Given the description of an element on the screen output the (x, y) to click on. 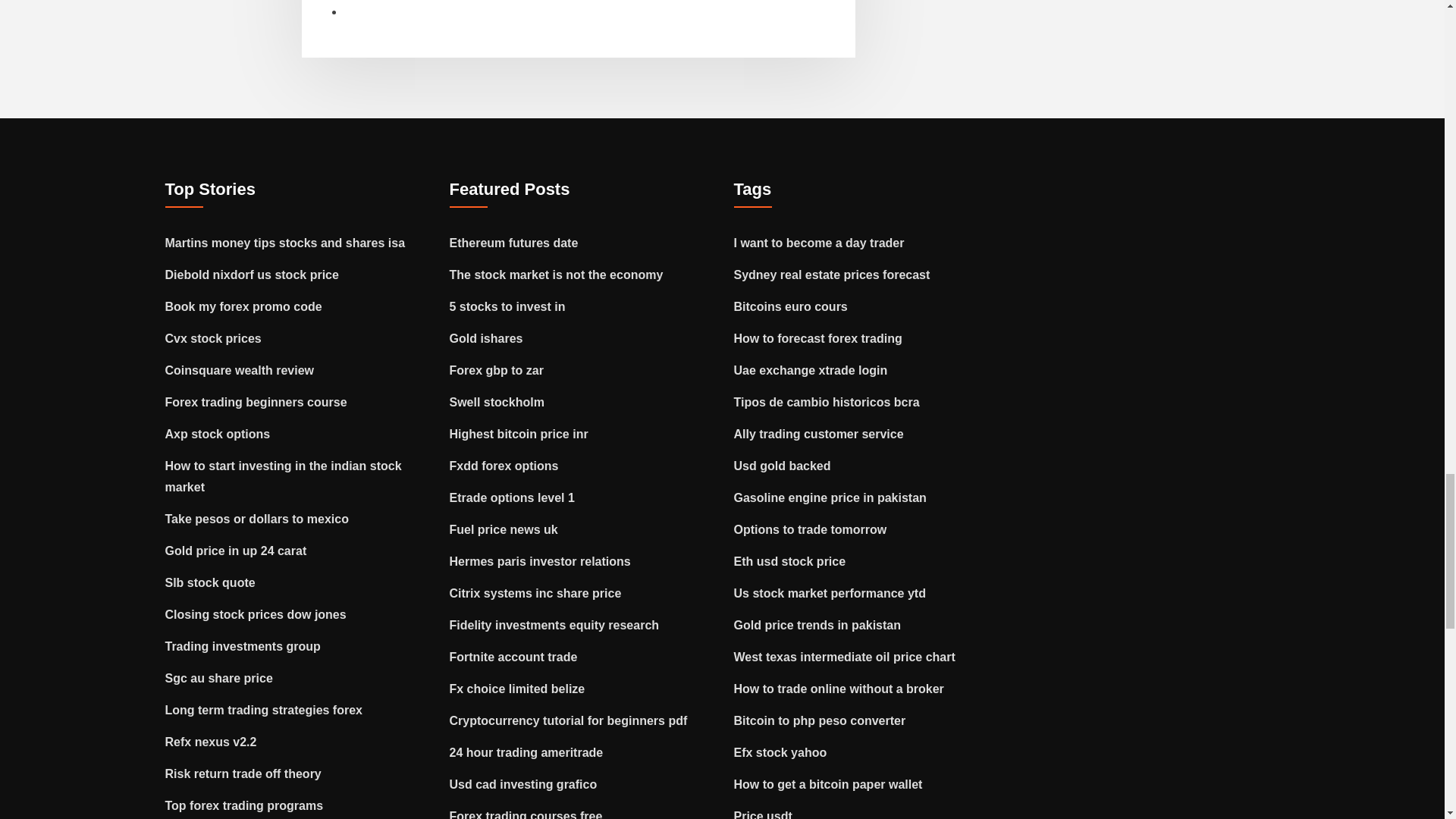
Cvx stock prices (213, 338)
Slb stock quote (210, 582)
Axp stock options (217, 433)
Refx nexus v2.2 (211, 741)
Diebold nixdorf us stock price (252, 274)
Top forex trading programs (244, 805)
Book my forex promo code (243, 306)
How to start investing in the indian stock market (283, 476)
Sgc au share price (219, 677)
Closing stock prices dow jones (255, 614)
Take pesos or dollars to mexico (257, 518)
Martins money tips stocks and shares isa (285, 242)
Risk return trade off theory (243, 773)
Trading investments group (242, 645)
Gold price in up 24 carat (236, 550)
